Given the description of an element on the screen output the (x, y) to click on. 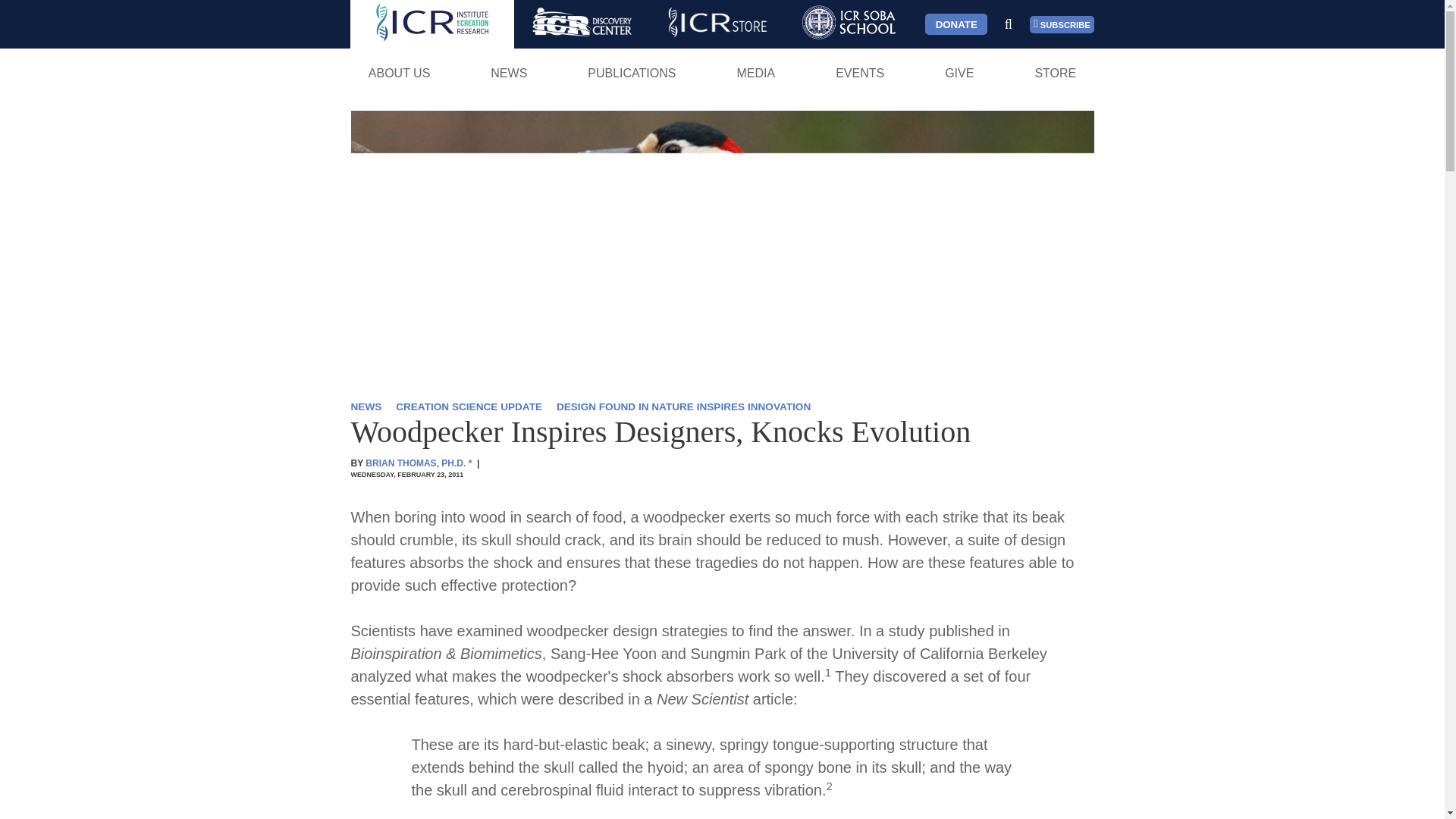
ABOUT US (399, 73)
SUBSCRIBE (1061, 24)
DONATE (955, 24)
NEWS (508, 73)
PUBLICATIONS (631, 73)
